Given the description of an element on the screen output the (x, y) to click on. 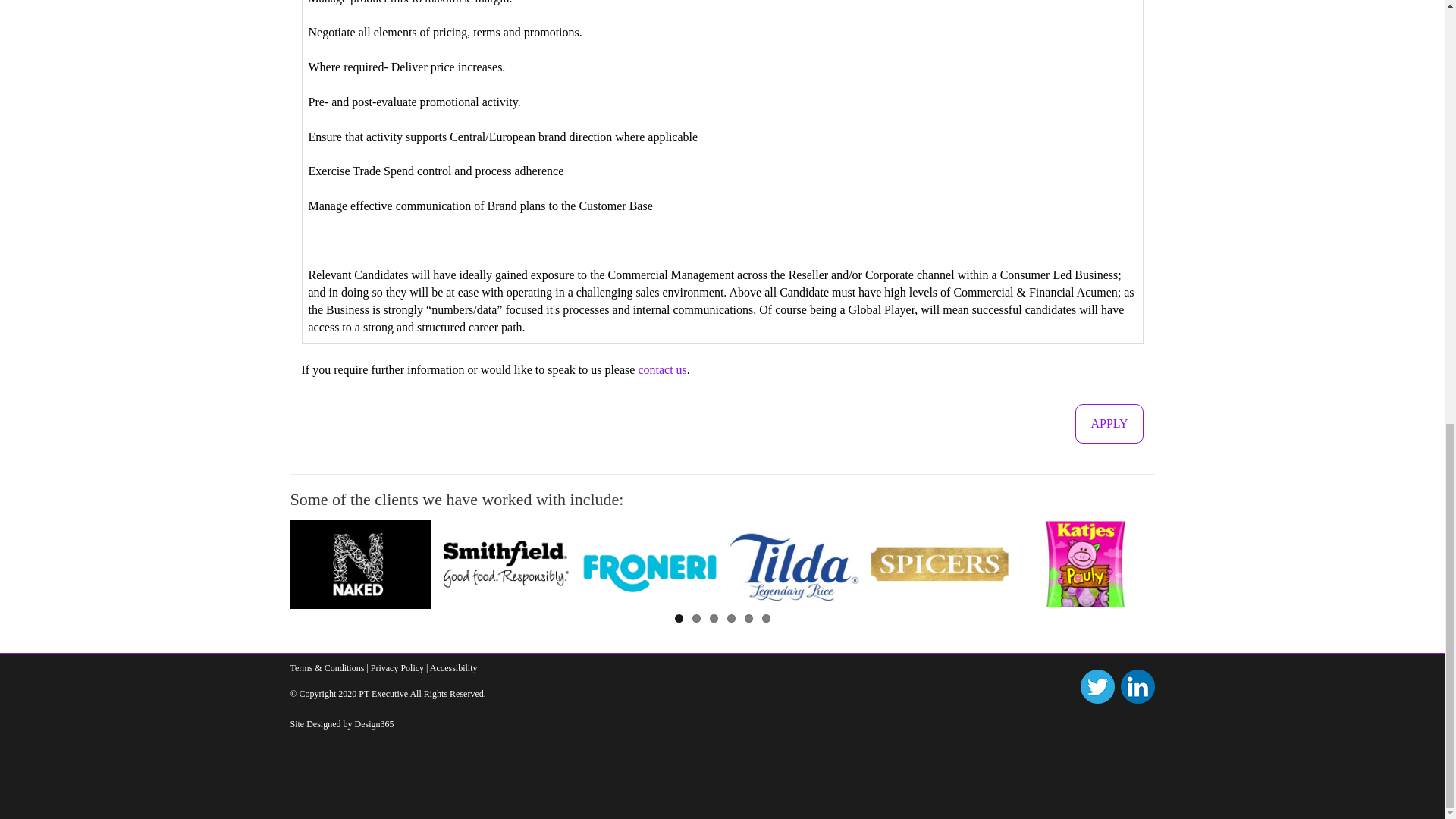
2 (695, 618)
1 (678, 618)
APPLY (1108, 423)
Privacy Policy (397, 667)
Follow PT Executive on Twitter (1096, 686)
Website Design365 (374, 724)
5 (748, 618)
Follow PT Executive on Twitter (1096, 685)
4 (730, 618)
3 (713, 618)
